Given the description of an element on the screen output the (x, y) to click on. 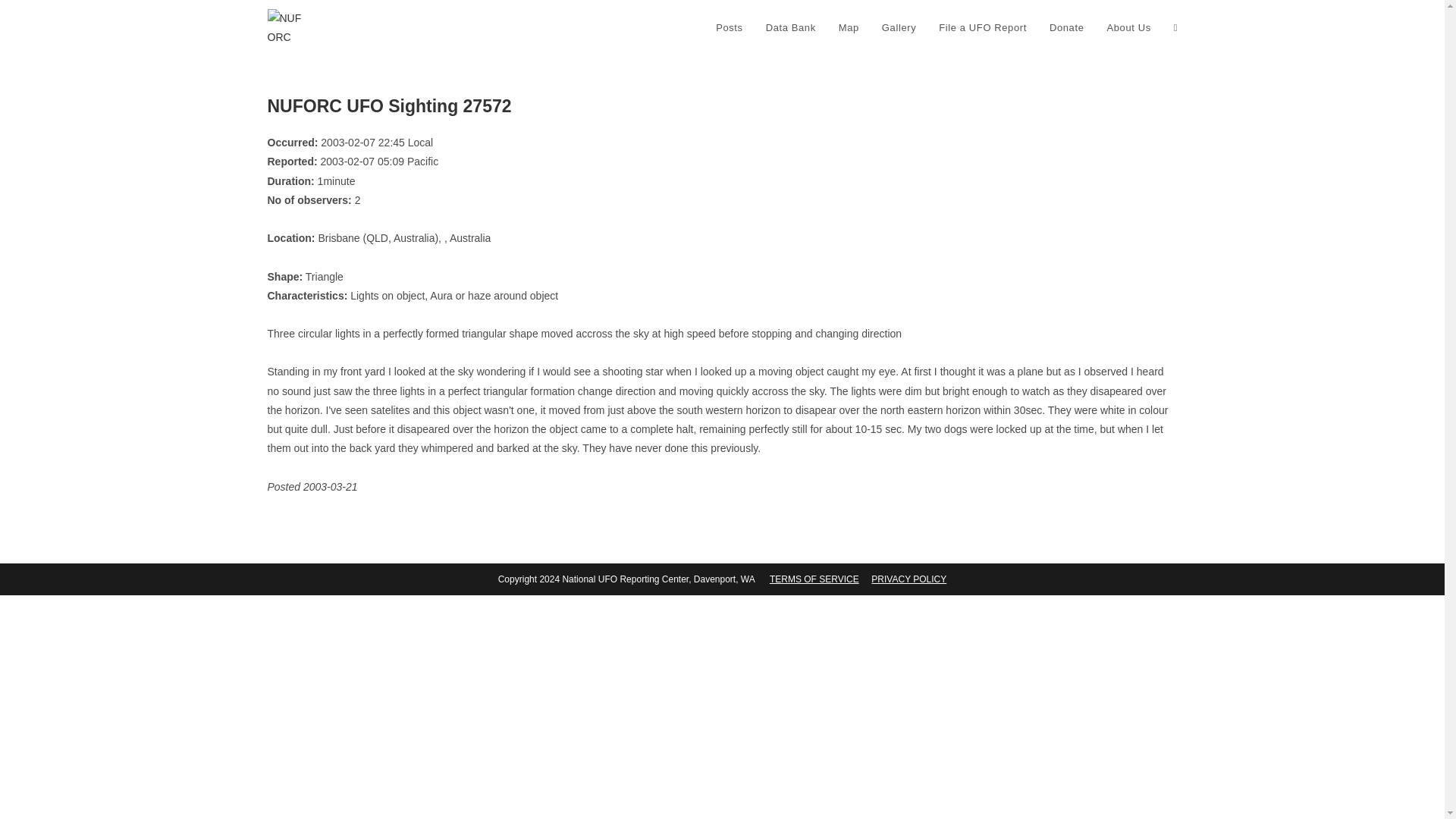
About Us (1127, 28)
PRIVACY POLICY (908, 579)
Posts (729, 28)
File a UFO Report (982, 28)
Donate (1067, 28)
Data Bank (790, 28)
TERMS OF SERVICE (814, 579)
Gallery (898, 28)
